Given the description of an element on the screen output the (x, y) to click on. 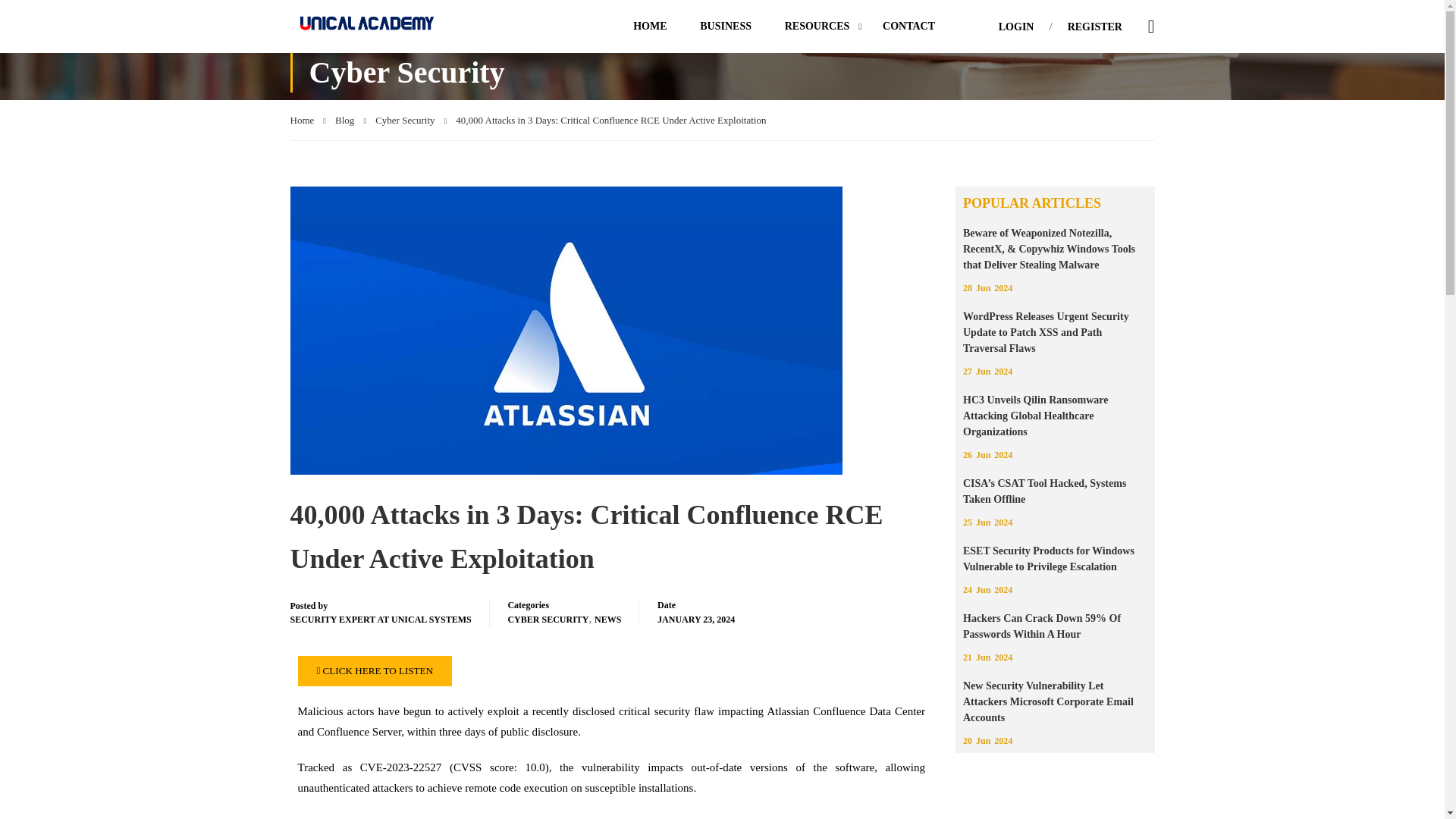
Unical Academy - Make your career in Cybersecurity (365, 23)
REGISTER (1094, 26)
SECURITY EXPERT AT UNICAL SYSTEMS (379, 619)
NEWS (607, 619)
LOGIN (1016, 26)
CONTACT (908, 26)
Cyber Security (410, 120)
Home (307, 120)
HOME (649, 26)
CYBER SECURITY (547, 619)
BUSINESS (725, 26)
RESOURCES (817, 26)
Blog (350, 120)
